Given the description of an element on the screen output the (x, y) to click on. 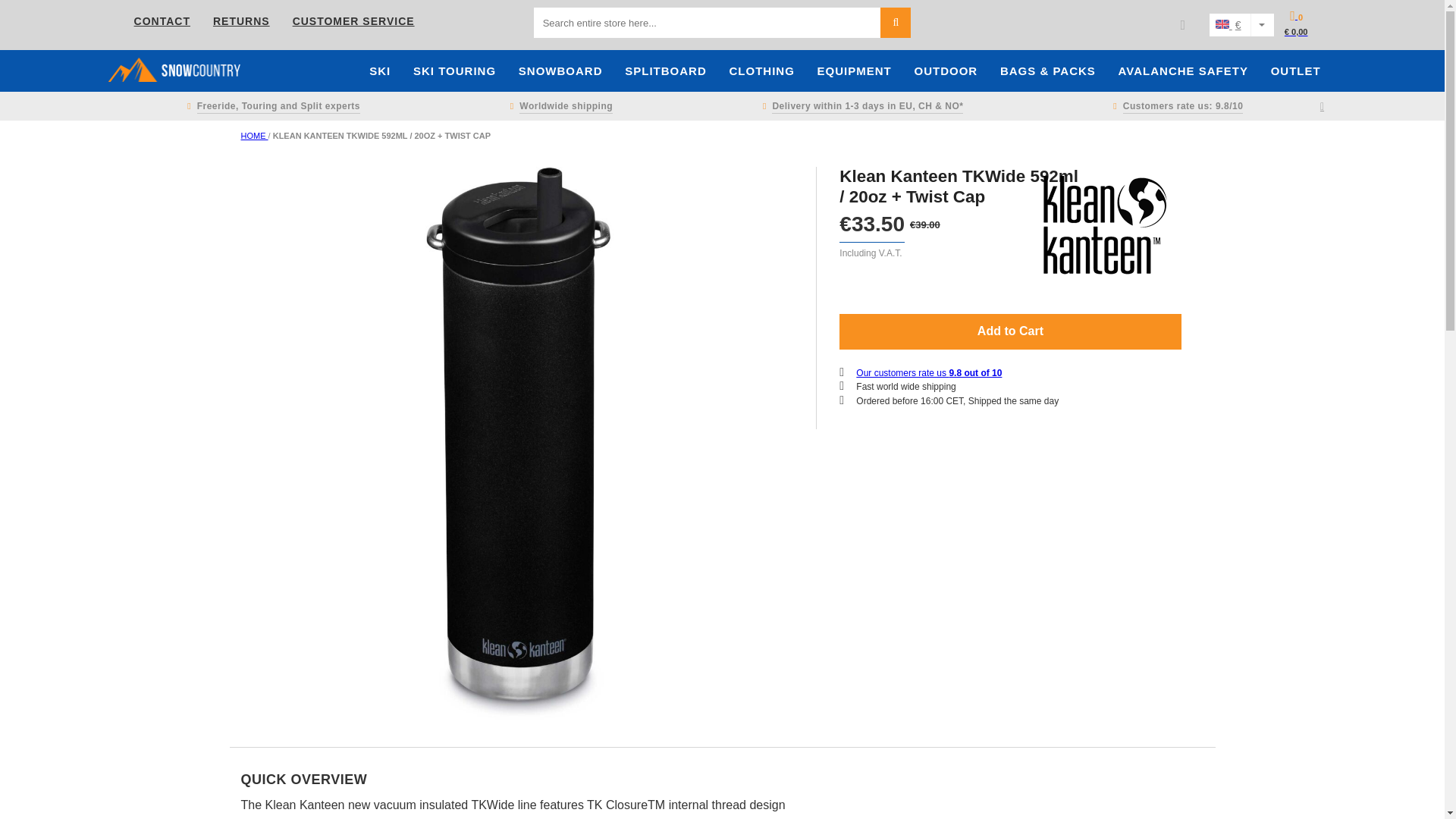
Worldwide shipping (557, 105)
CUSTOMER SERVICE (353, 21)
Customers rate (1175, 105)
CONTACT (161, 21)
Delivery times (859, 105)
Search (895, 22)
Add to Cart (1010, 331)
RETURNS (240, 21)
Search (895, 22)
Go to Home Page (254, 135)
